Given the description of an element on the screen output the (x, y) to click on. 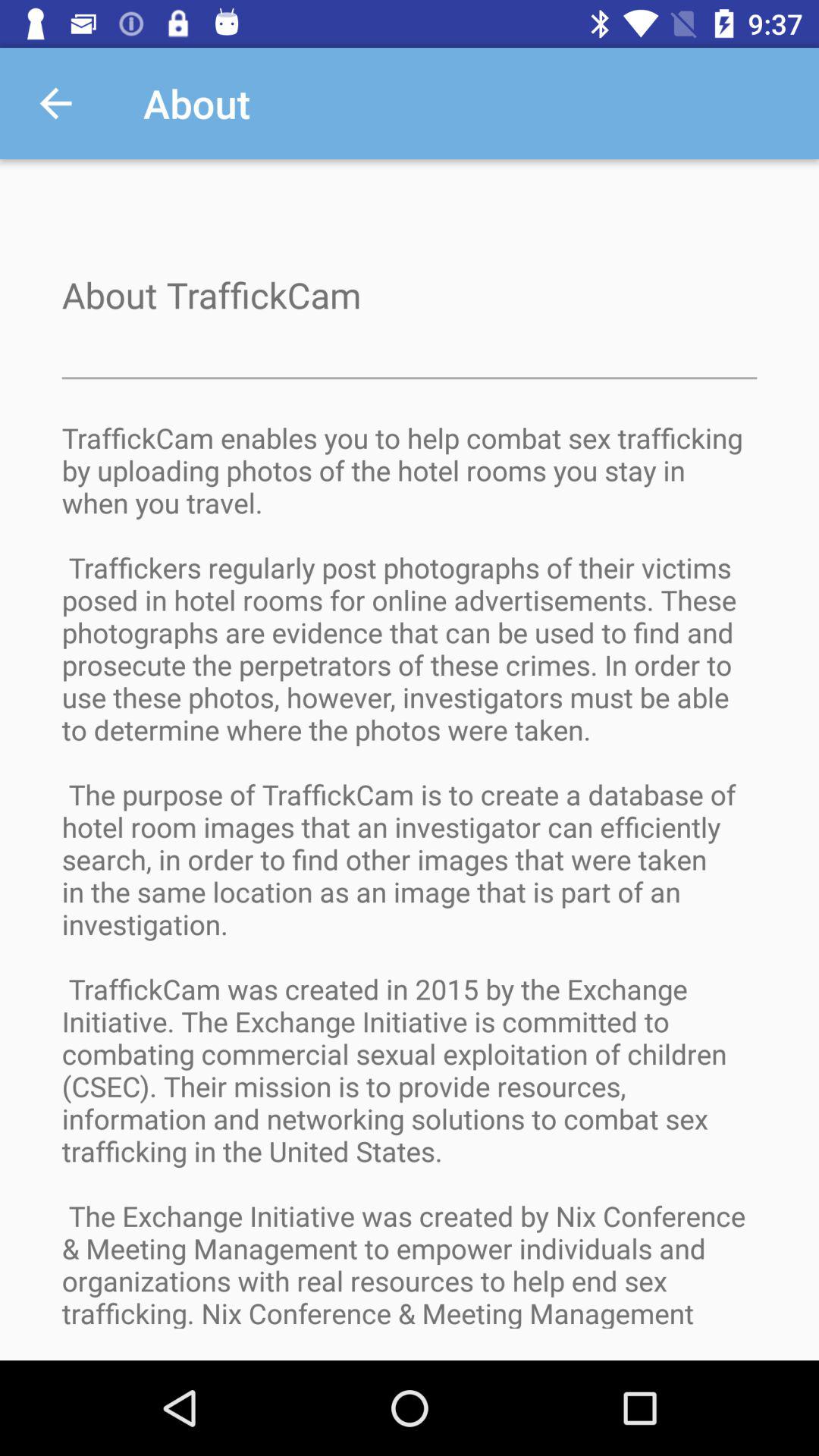
turn off the icon to the left of about app (55, 103)
